Given the description of an element on the screen output the (x, y) to click on. 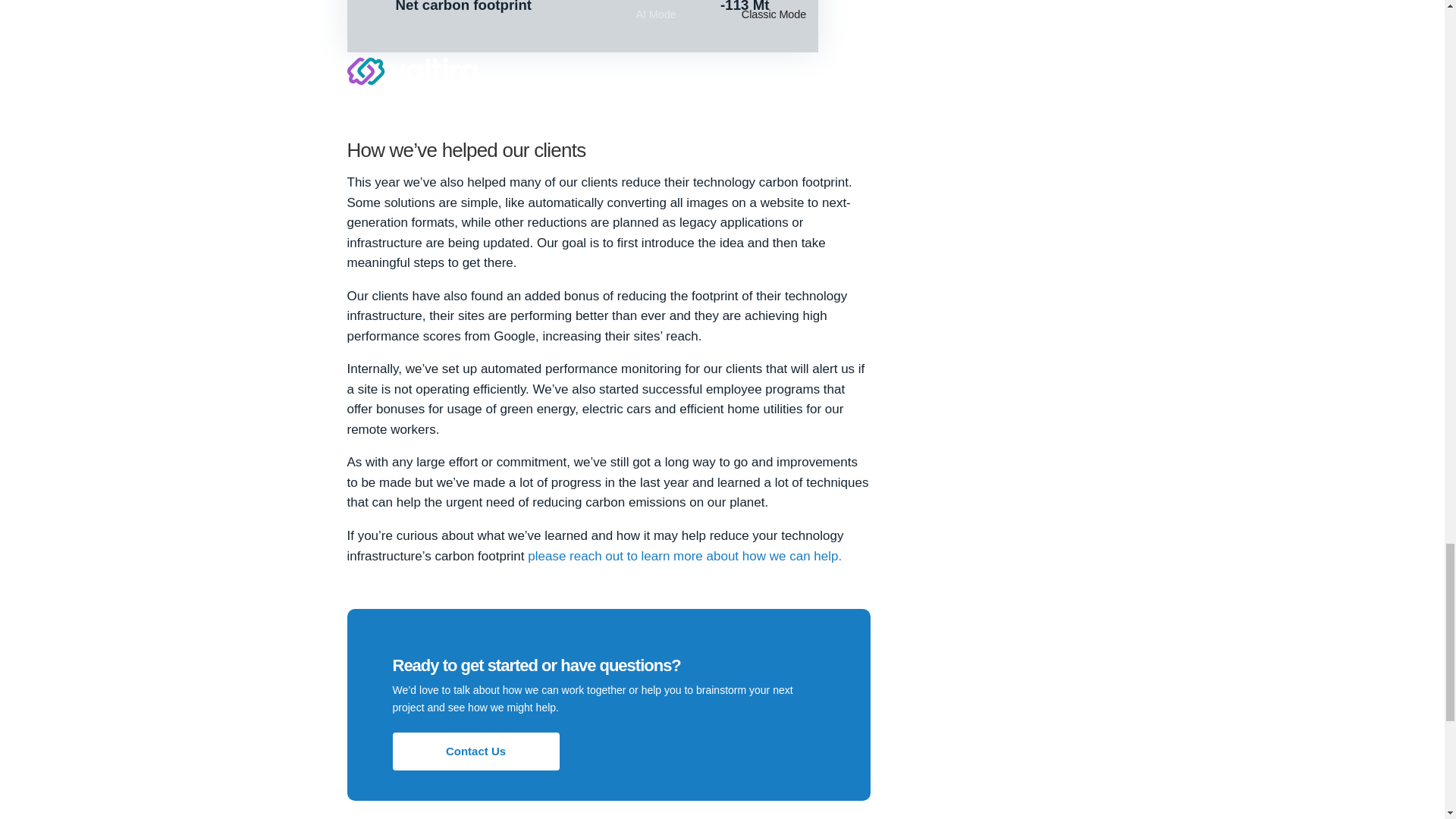
Contact Us (476, 751)
please reach out to learn more about how we can help. (684, 555)
